Given the description of an element on the screen output the (x, y) to click on. 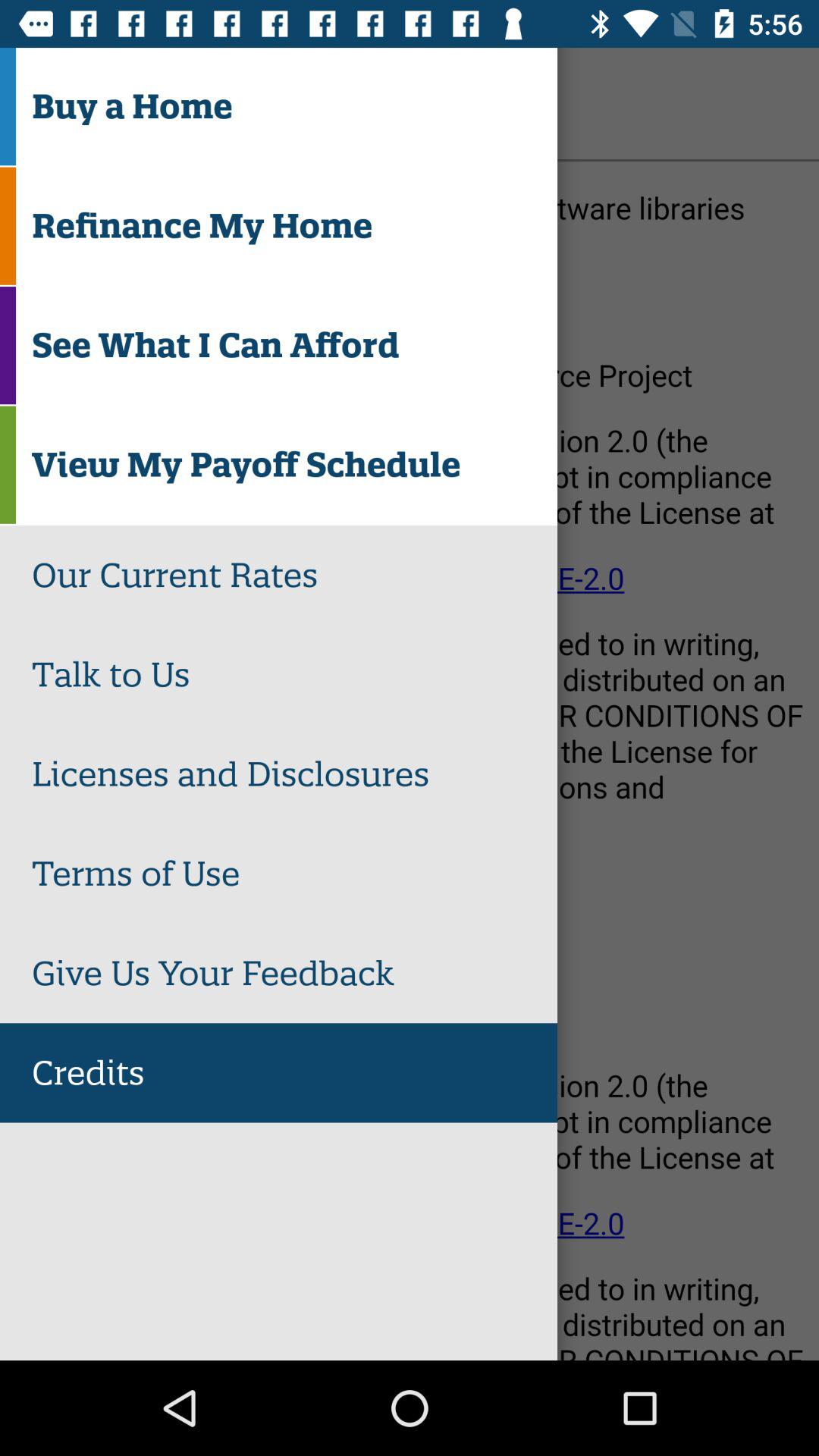
scroll until the buy a home (294, 106)
